Given the description of an element on the screen output the (x, y) to click on. 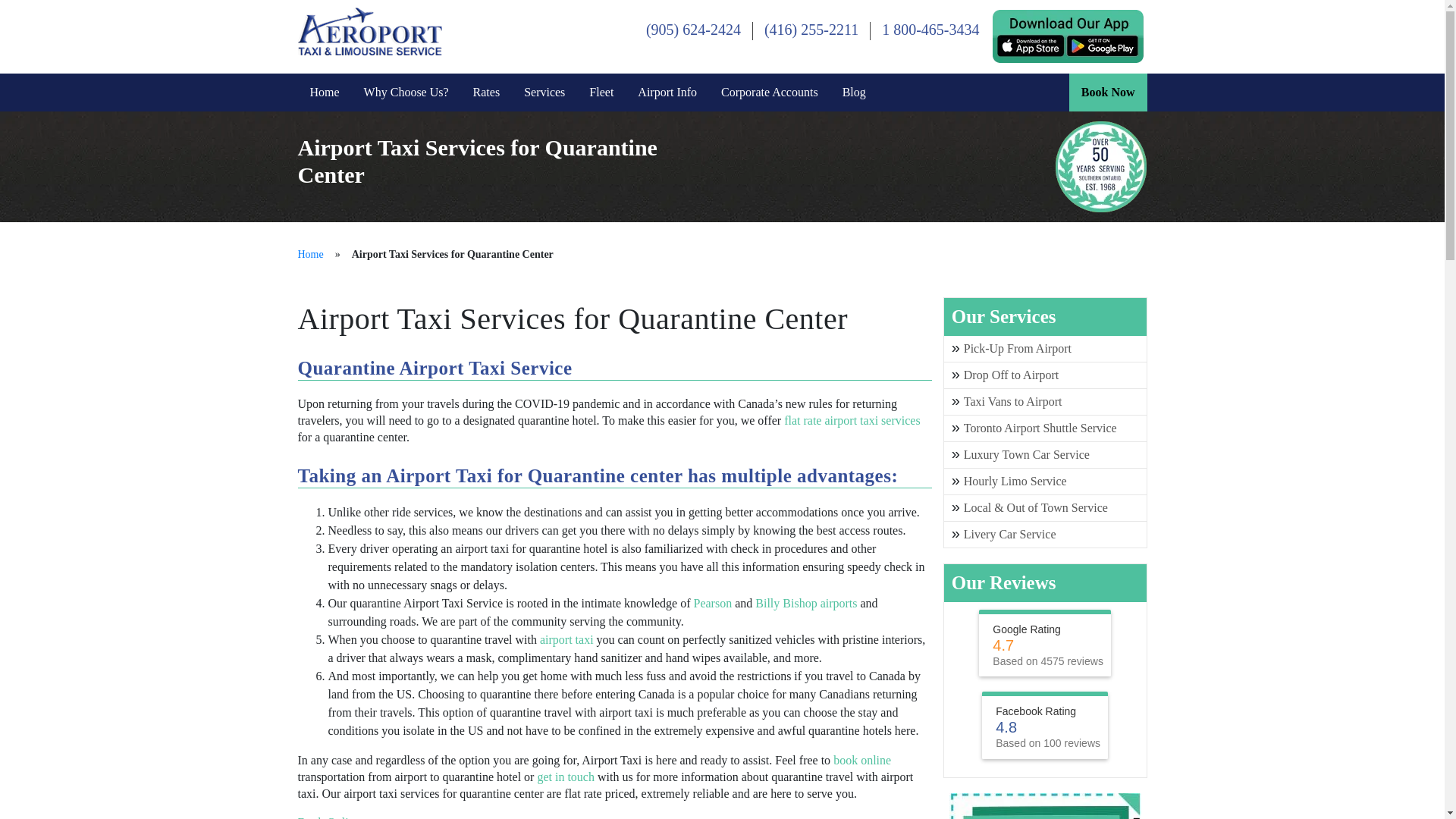
1 800-465-3434 (930, 29)
Aeroporttaxi (369, 29)
Rates (486, 92)
Why Choose Us? (406, 92)
Corporate Accounts (769, 92)
Book Now (1107, 92)
Blog (853, 92)
Fleet (601, 92)
Home (310, 254)
Home (310, 254)
